Given the description of an element on the screen output the (x, y) to click on. 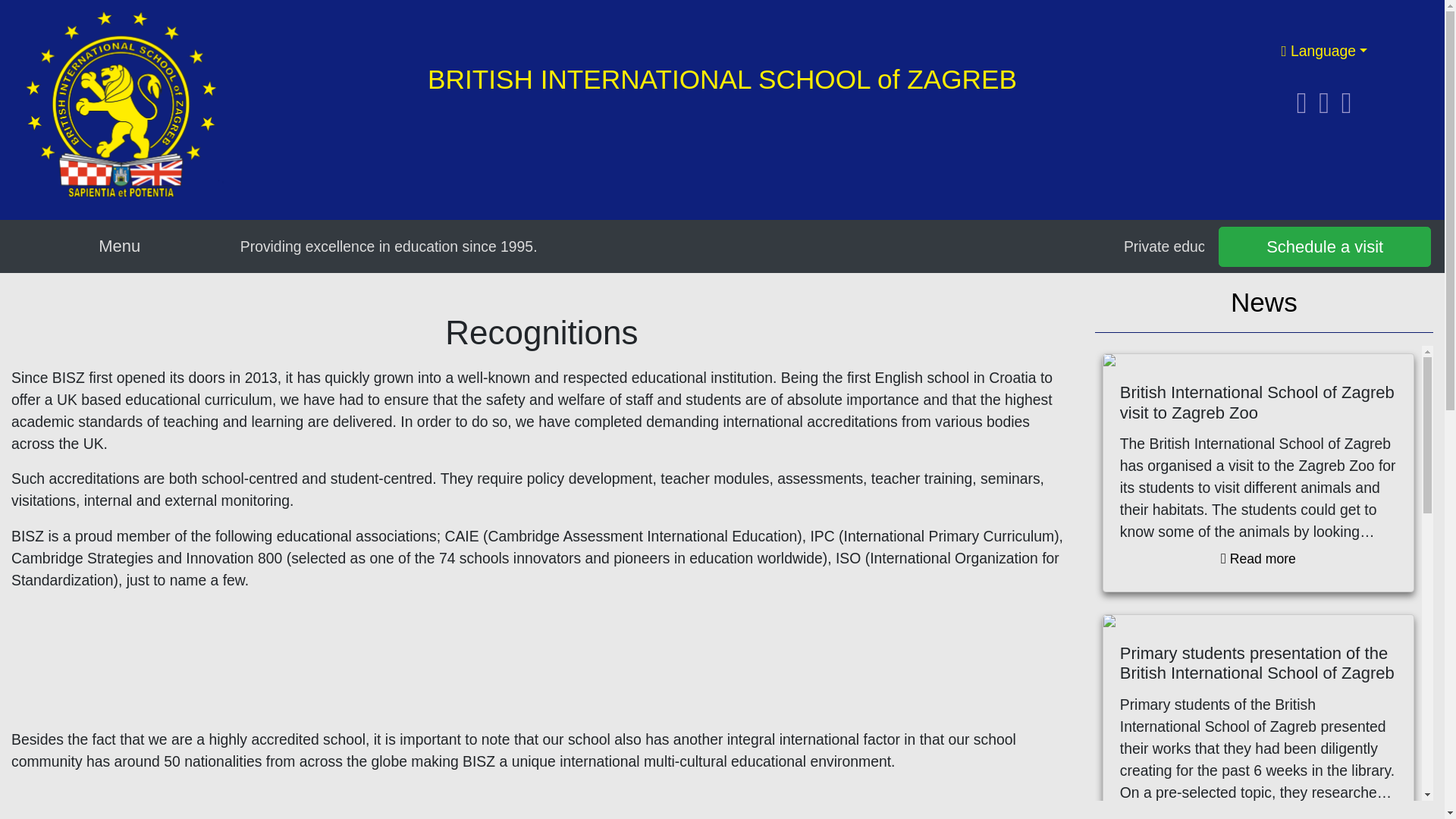
Schedule a visit (1324, 246)
Menu (119, 245)
BRITISH INTERNATIONAL SCHOOL of ZAGREB (722, 79)
Language (1324, 50)
